Given the description of an element on the screen output the (x, y) to click on. 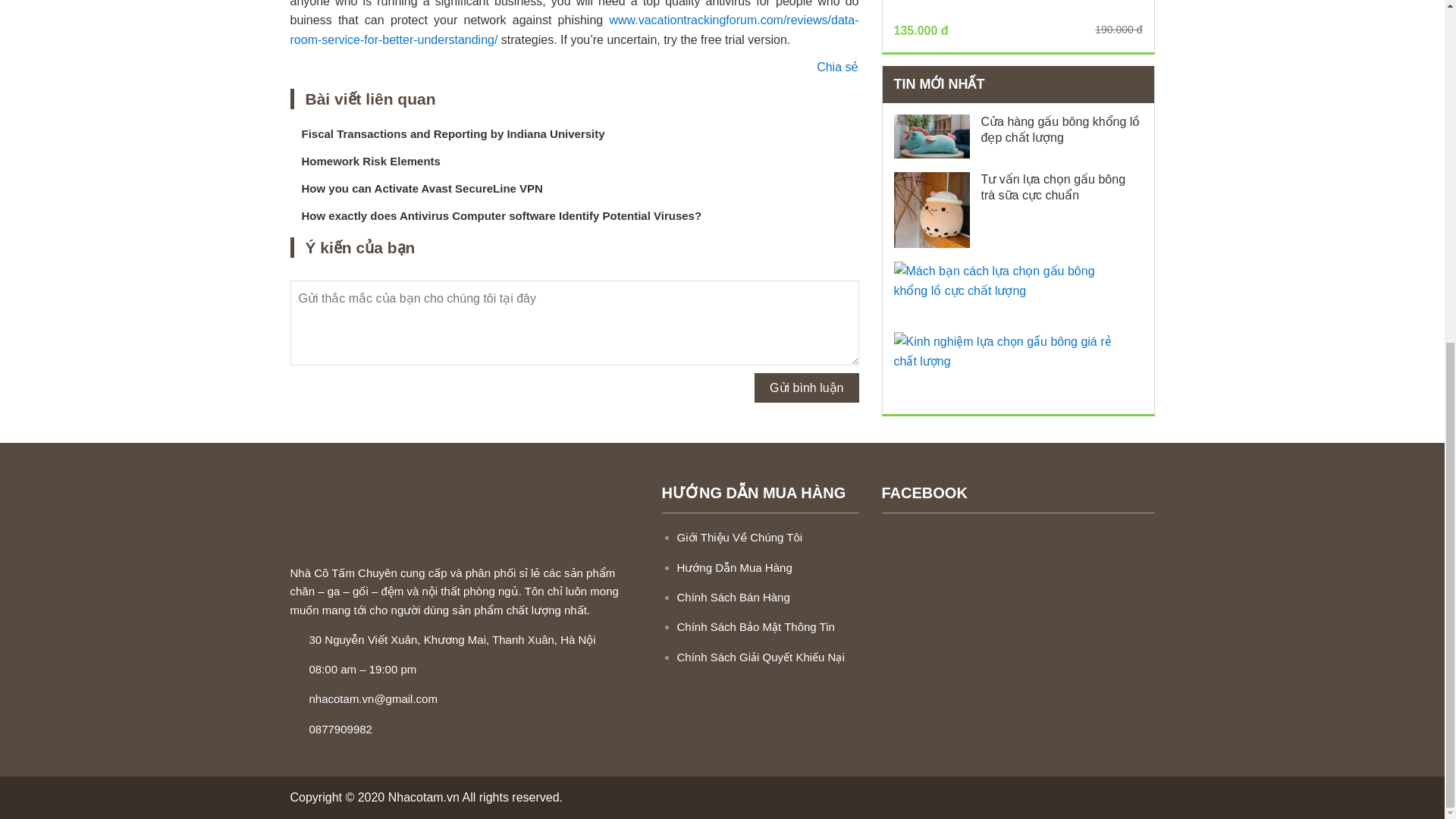
Homework Risk Elements (371, 160)
Fiscal Transactions and Reporting by Indiana University (453, 133)
How you can Activate Avast SecureLine VPN (422, 187)
How you can Activate Avast SecureLine VPN (422, 187)
Homework Risk Elements (371, 160)
Fiscal Transactions and Reporting by Indiana University (453, 133)
